Given the description of an element on the screen output the (x, y) to click on. 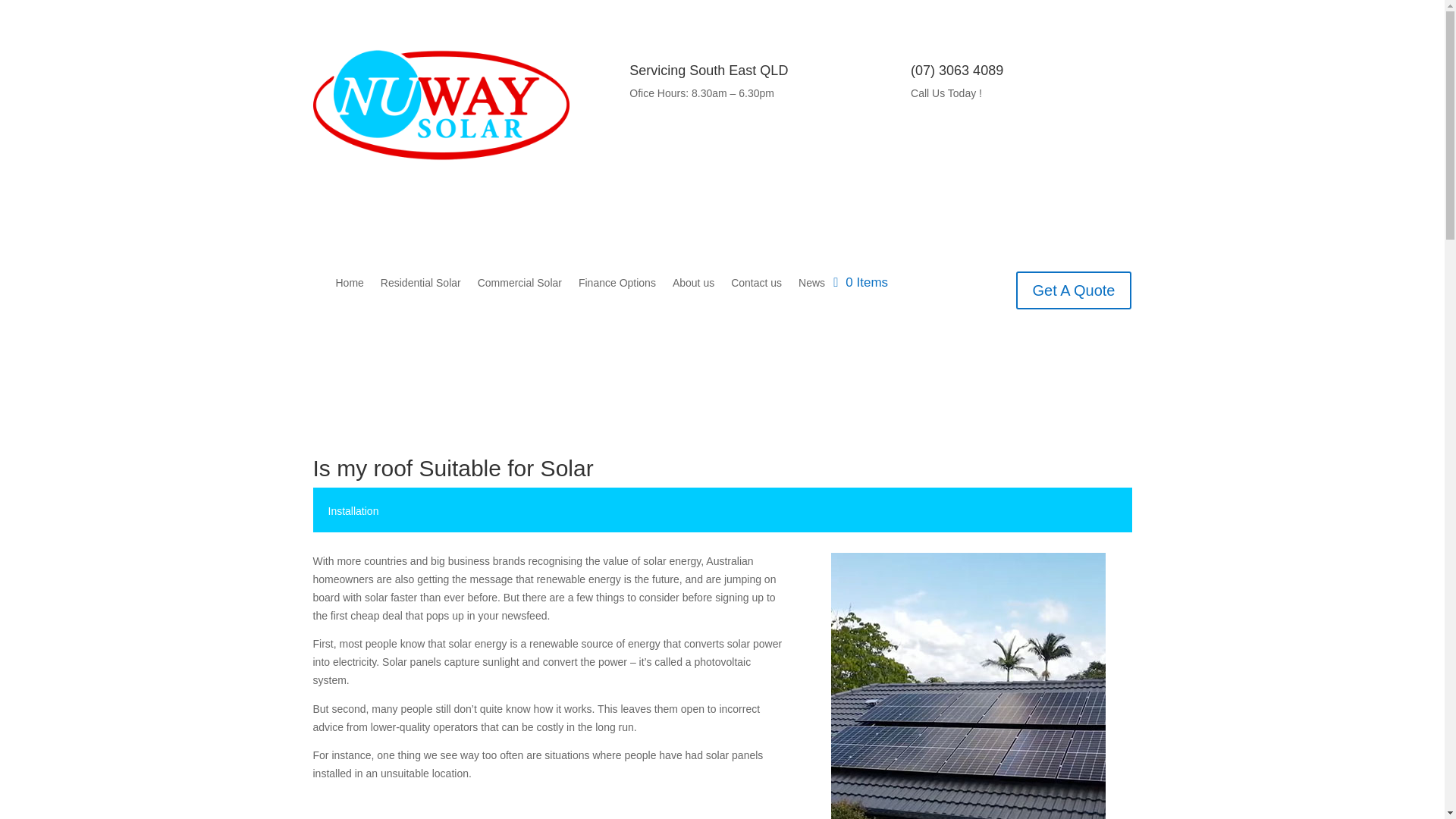
NuWay Logo WEB (441, 104)
Commercial Solar (519, 285)
About us (693, 285)
Installation (352, 510)
Finance Options (617, 285)
Contact us (755, 285)
Get A Quote (1074, 290)
Residential Solar (420, 285)
Colleen Roof2 (968, 685)
News (811, 285)
